Given the description of an element on the screen output the (x, y) to click on. 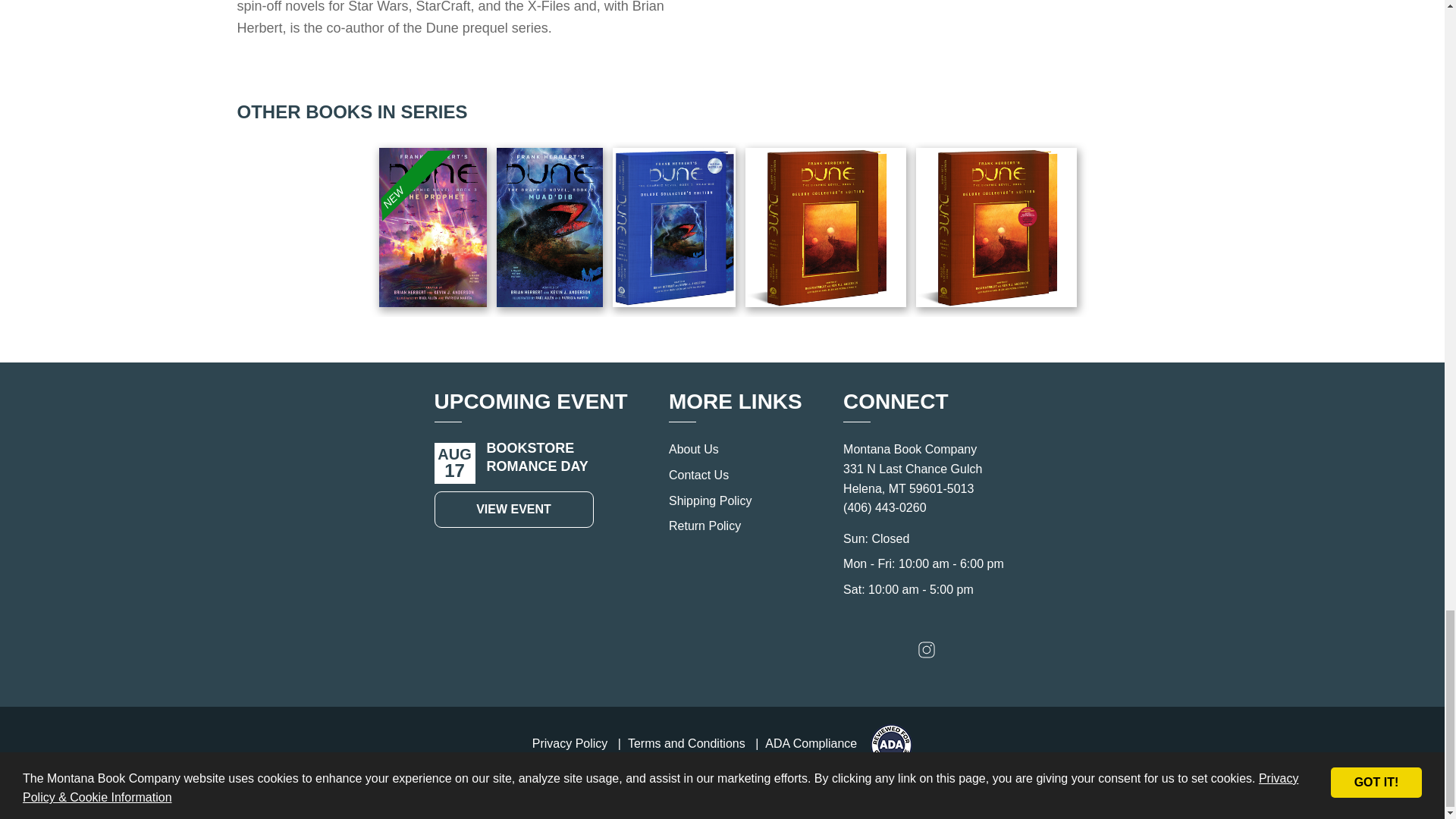
Connect with Instagram (926, 653)
